Given the description of an element on the screen output the (x, y) to click on. 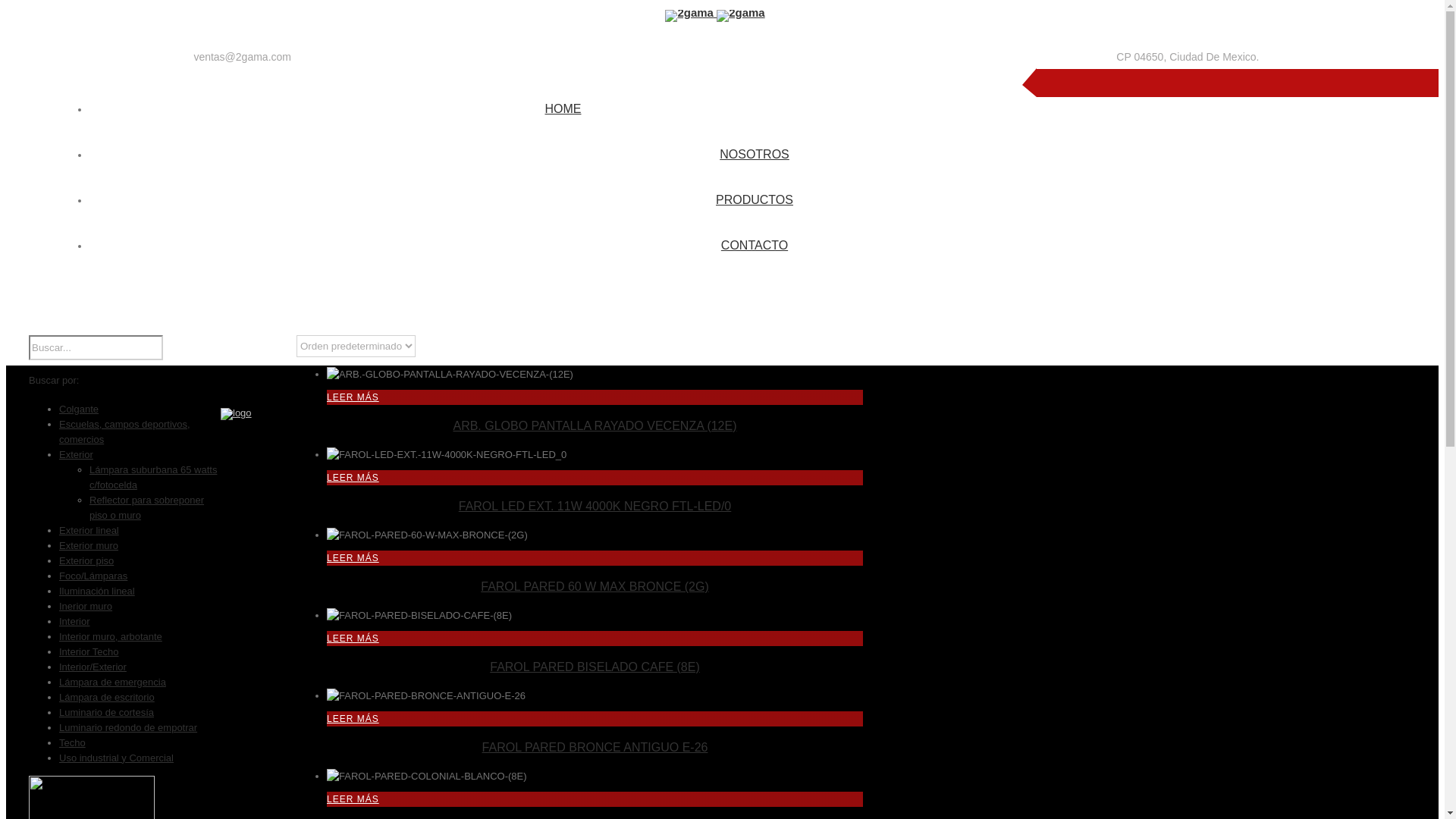
ARB. GLOBO PANTALLA RAYADO VECENZA (12E) Element type: text (594, 425)
Exterior muro Element type: text (88, 545)
Interior Techo Element type: text (89, 651)
HOME Element type: text (562, 107)
Interior Element type: text (74, 621)
Exterior Element type: text (76, 454)
NOSOTROS Element type: text (754, 152)
Exterior lineal Element type: text (89, 530)
Inerior muro Element type: text (85, 605)
FAROL LED EXT. 11W 4000K NEGRO FTL-LED/0 Element type: text (594, 505)
FAROL PARED BRONCE ANTIGUO E-26 Element type: text (595, 746)
CONTACTO Element type: text (754, 243)
Exterior piso Element type: text (86, 560)
Techo Element type: text (72, 742)
Uso industrial y Comercial Element type: text (116, 757)
Interior muro, arbotante Element type: text (110, 636)
FAROL PARED BISELADO CAFE (8E) Element type: text (594, 666)
Luminario redondo de empotrar Element type: text (128, 727)
PRODUCTOS Element type: text (754, 198)
Interior/Exterior Element type: text (92, 666)
FAROL PARED 60 W MAX BRONCE (2G) Element type: text (594, 586)
Colgante Element type: text (78, 408)
Reflector para sobreponer piso o muro Element type: text (146, 507)
Escuelas, campos deportivos, comercios Element type: text (124, 431)
